Given the description of an element on the screen output the (x, y) to click on. 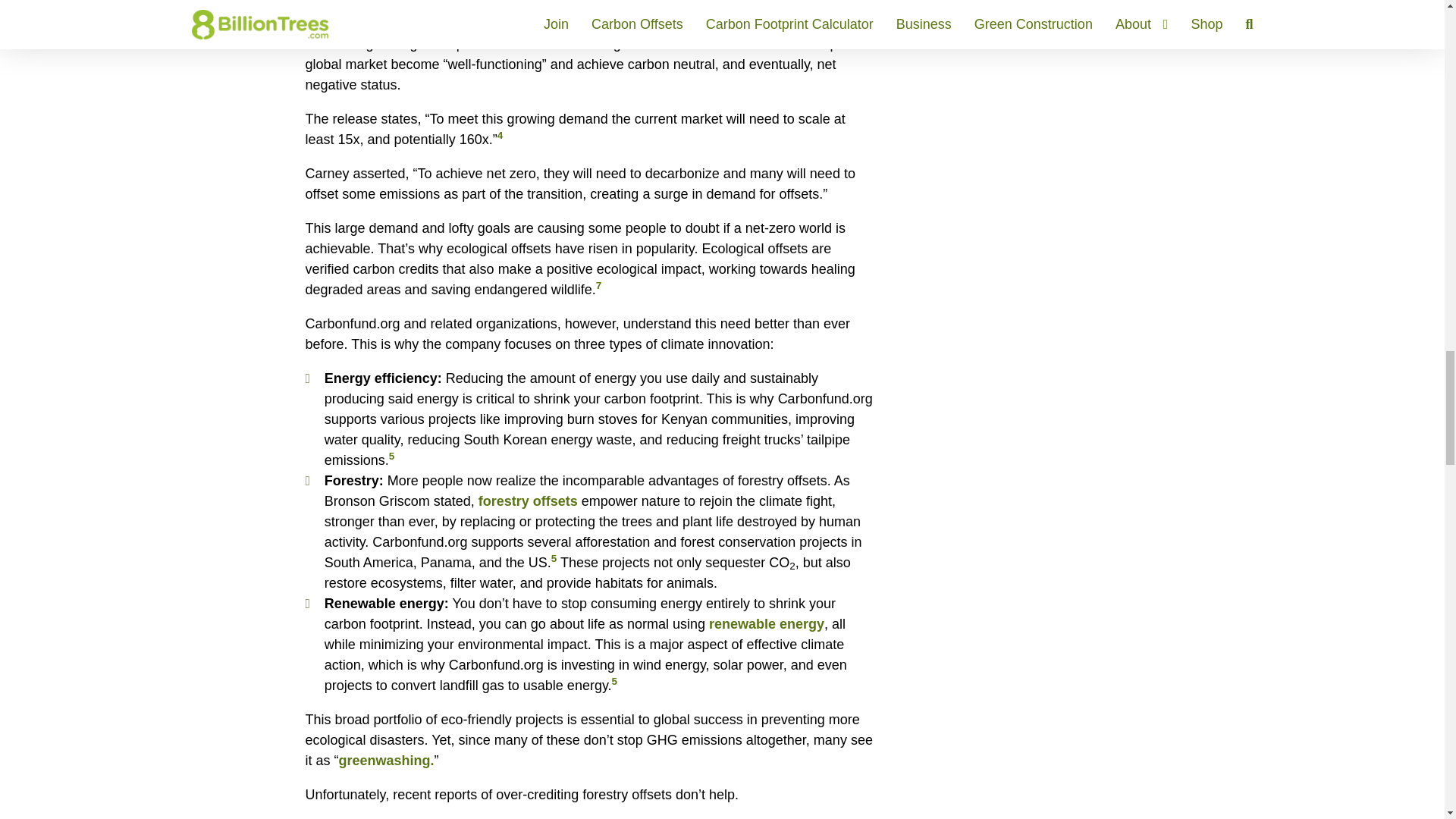
renewable energy (766, 623)
forestry offsets (528, 500)
greenwashing. (386, 760)
